Given the description of an element on the screen output the (x, y) to click on. 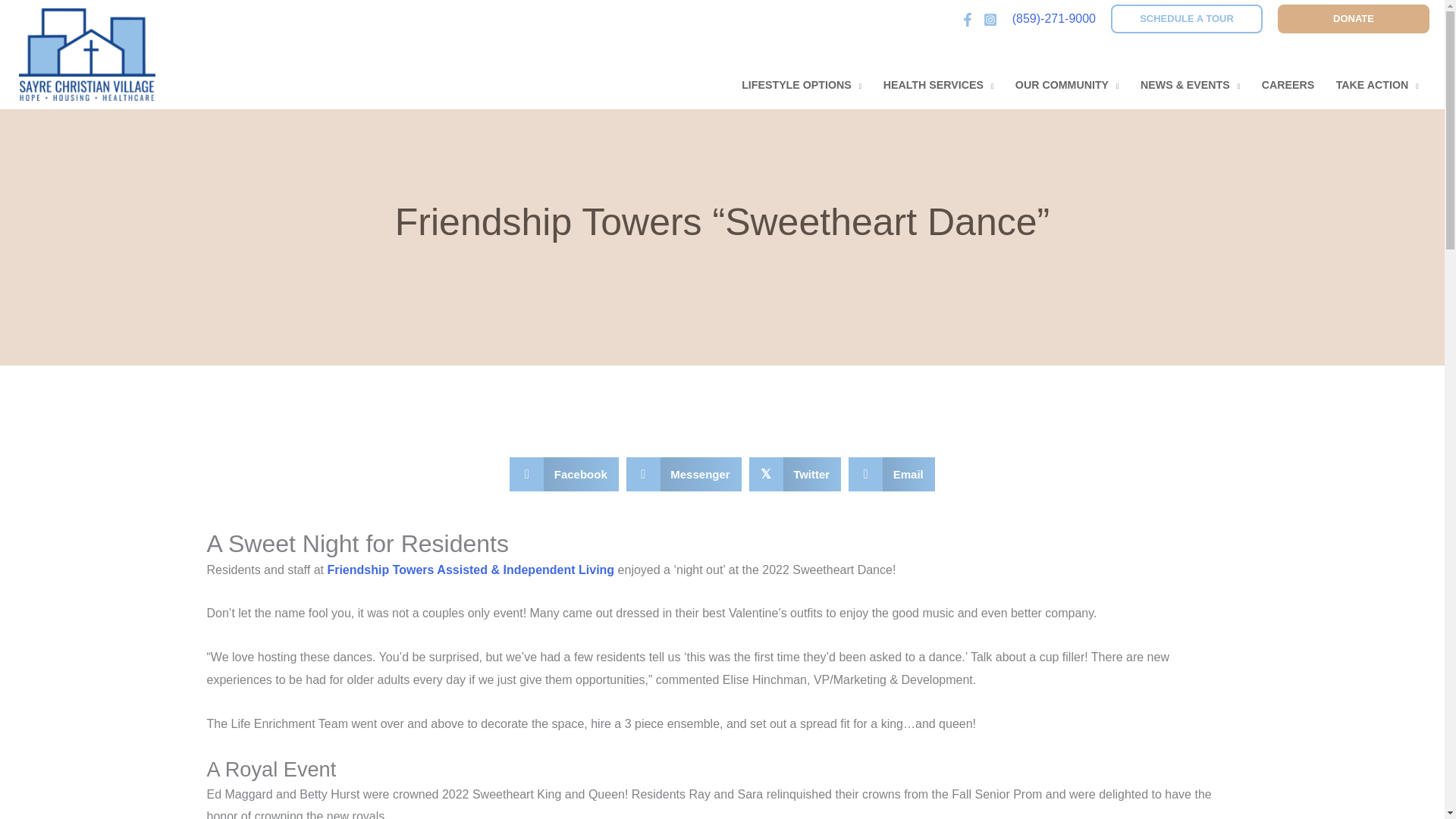
LIFESTYLE OPTIONS (801, 84)
OUR COMMUNITY (1066, 84)
CAREERS (1287, 84)
DONATE (1353, 18)
TAKE ACTION (1376, 84)
SCHEDULE A TOUR (1186, 18)
HEALTH SERVICES (938, 84)
